Given the description of an element on the screen output the (x, y) to click on. 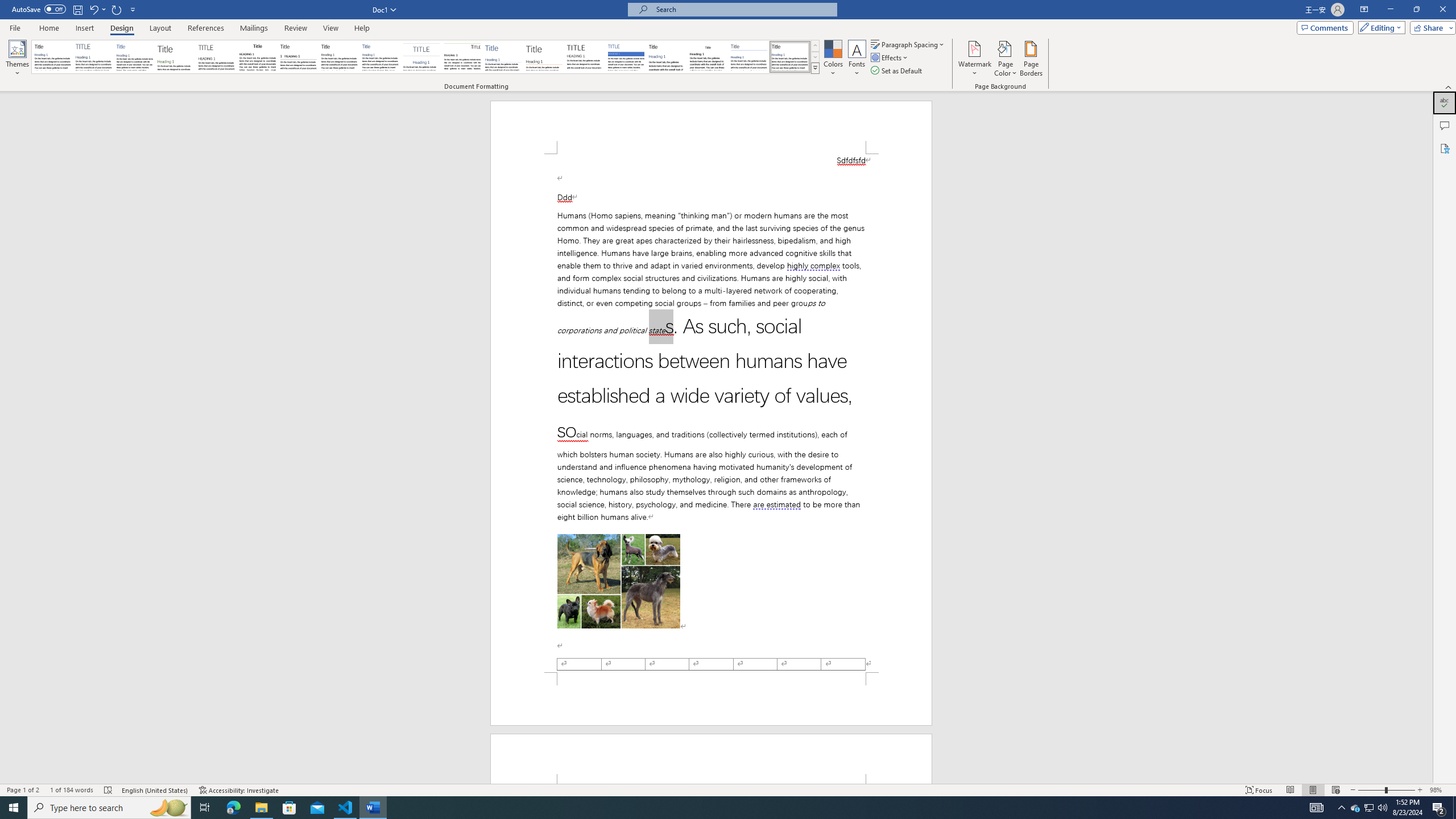
Colors (832, 58)
Page Borders... (1031, 58)
Paragraph Spacing (908, 44)
Page 1 content (710, 412)
